Given the description of an element on the screen output the (x, y) to click on. 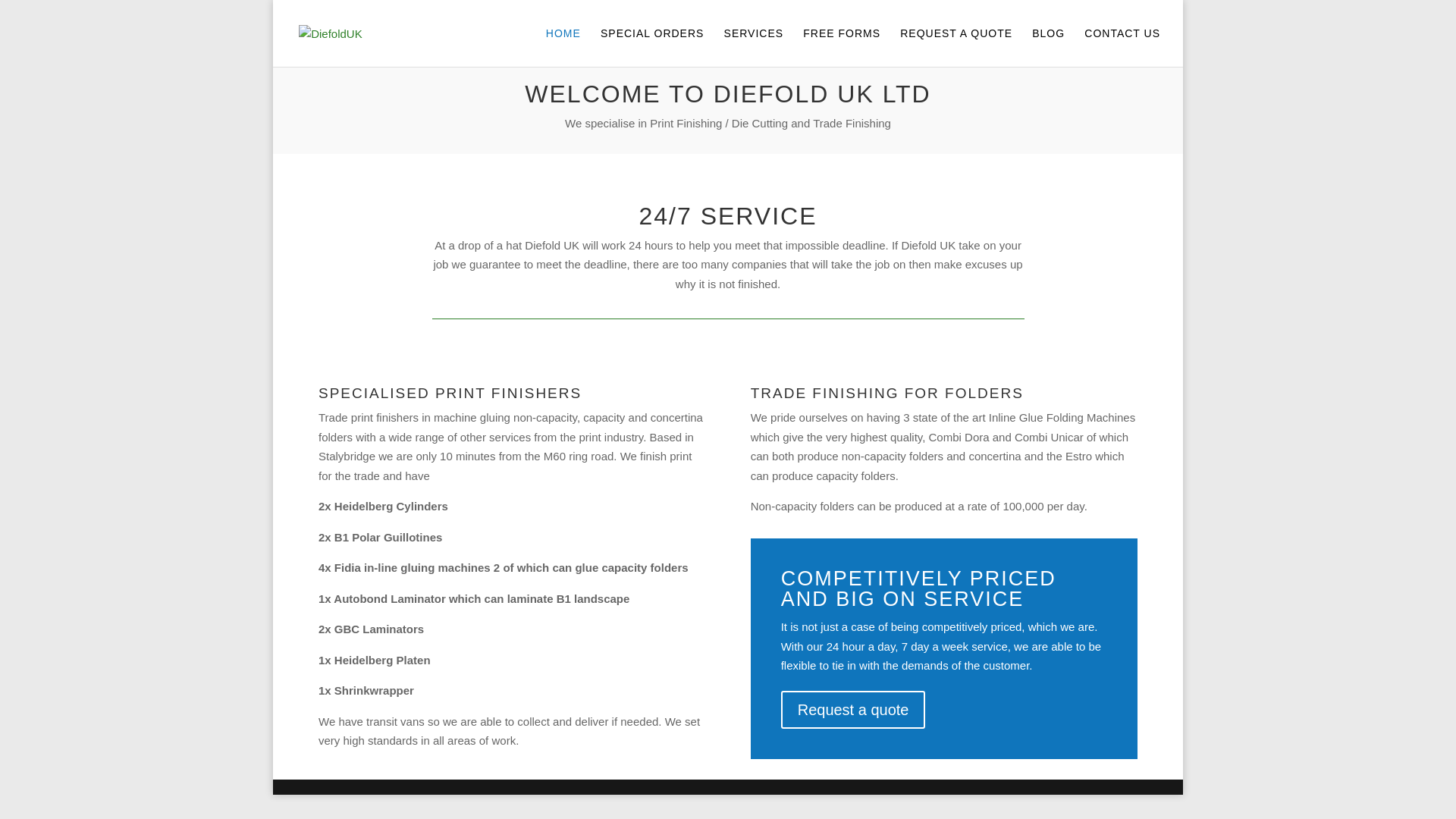
FREE FORMS (841, 46)
CONTACT US (1122, 46)
REQUEST A QUOTE (955, 46)
SPECIAL ORDERS (651, 46)
HOME (563, 46)
Request a quote (853, 709)
SERVICES (753, 46)
